Given the description of an element on the screen output the (x, y) to click on. 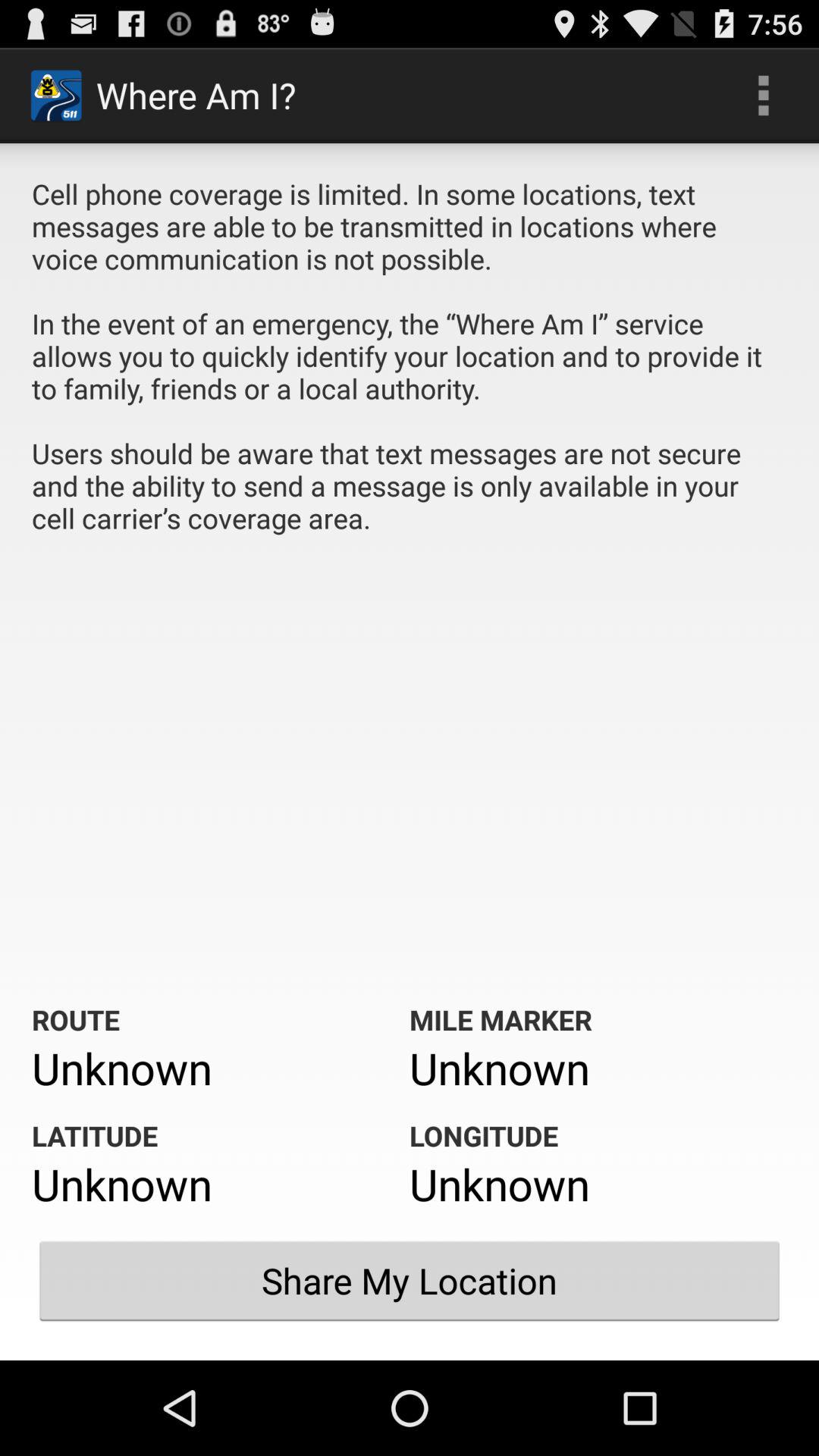
turn on icon to the right of where am i? icon (763, 95)
